Given the description of an element on the screen output the (x, y) to click on. 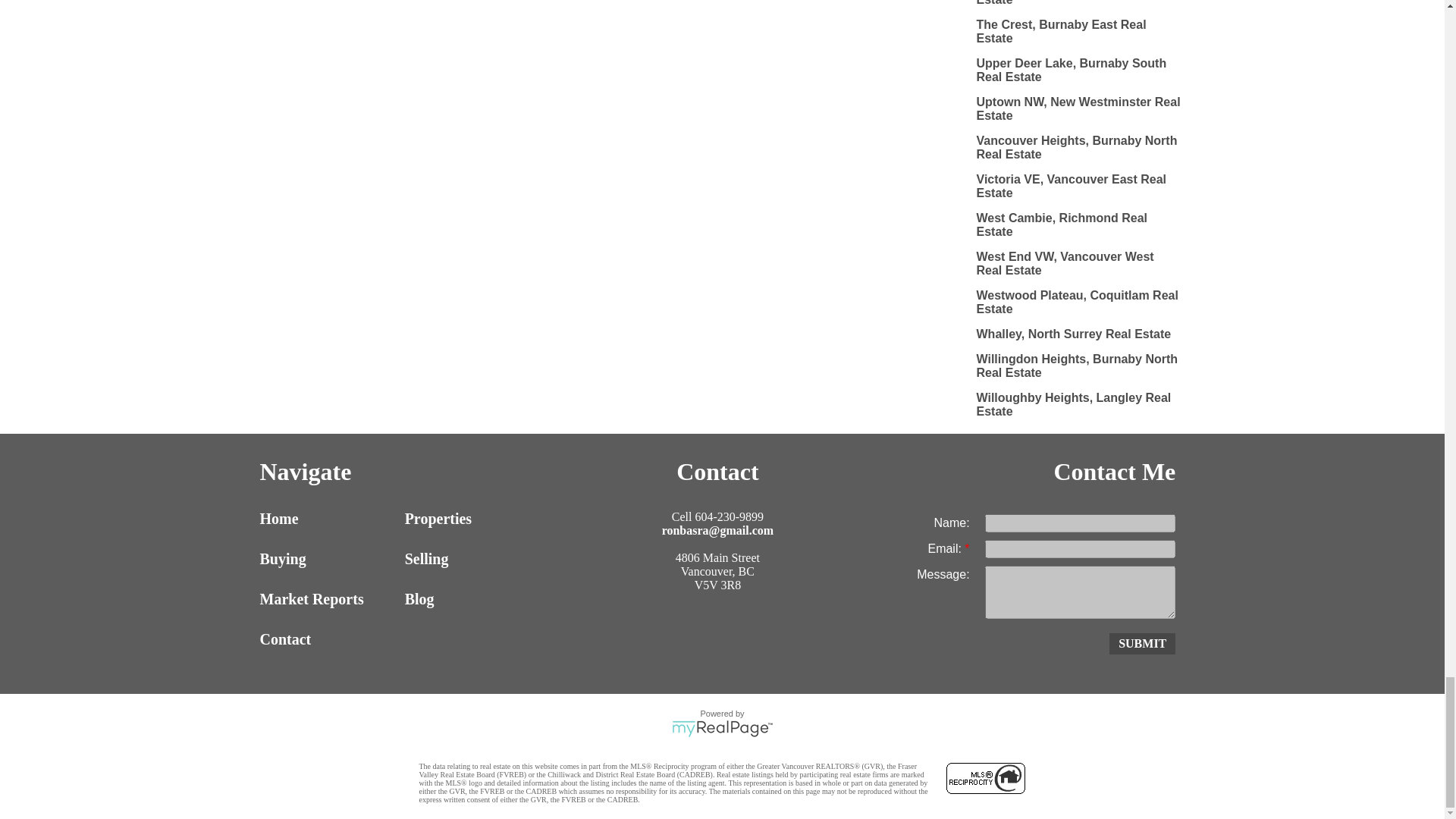
Selling (472, 559)
Properties (472, 518)
Buying (327, 559)
Home (327, 518)
Contact (327, 639)
Blog (472, 599)
Market Reports (327, 599)
